Given the description of an element on the screen output the (x, y) to click on. 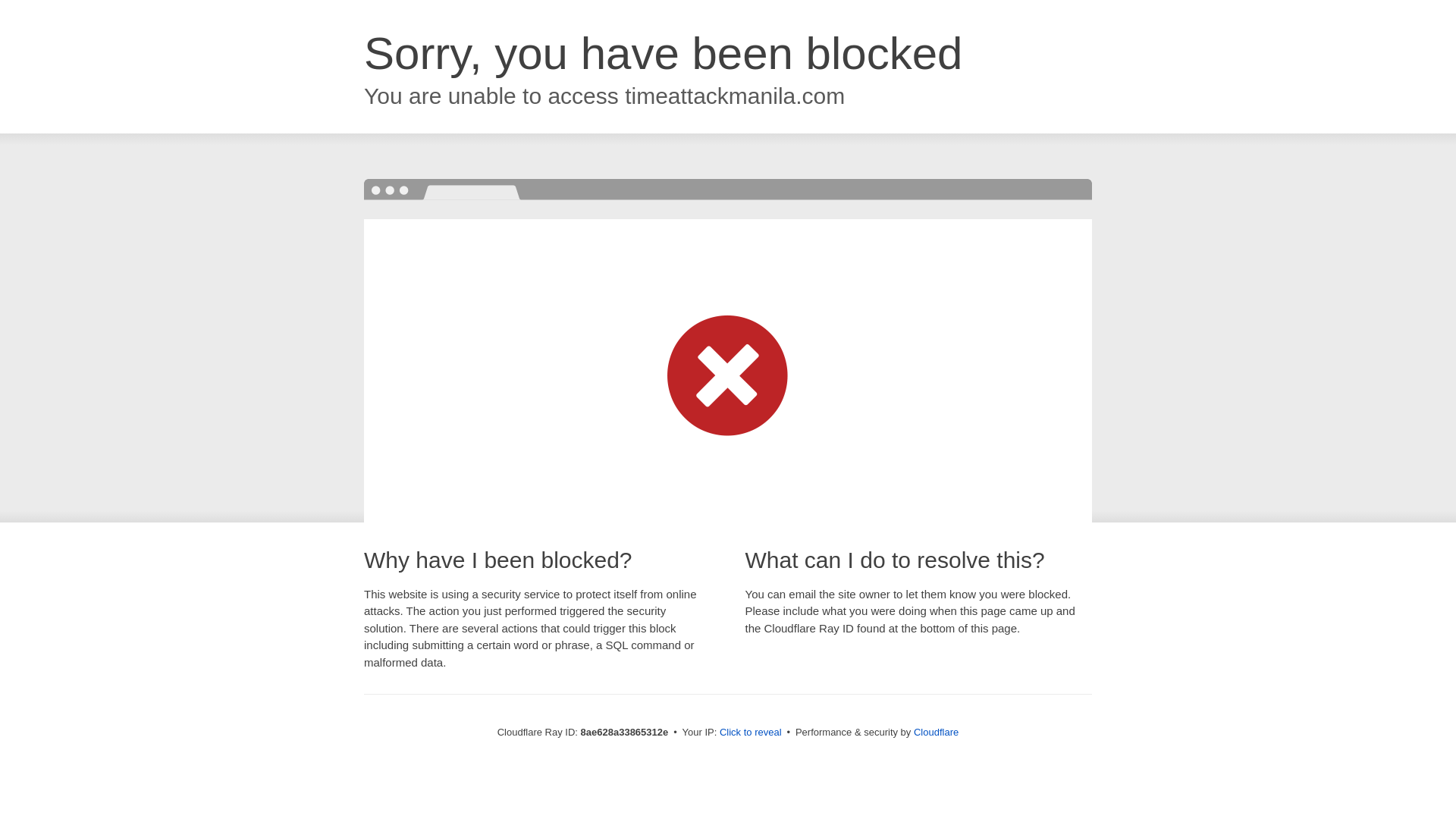
Cloudflare (936, 731)
Click to reveal (750, 732)
